Given the description of an element on the screen output the (x, y) to click on. 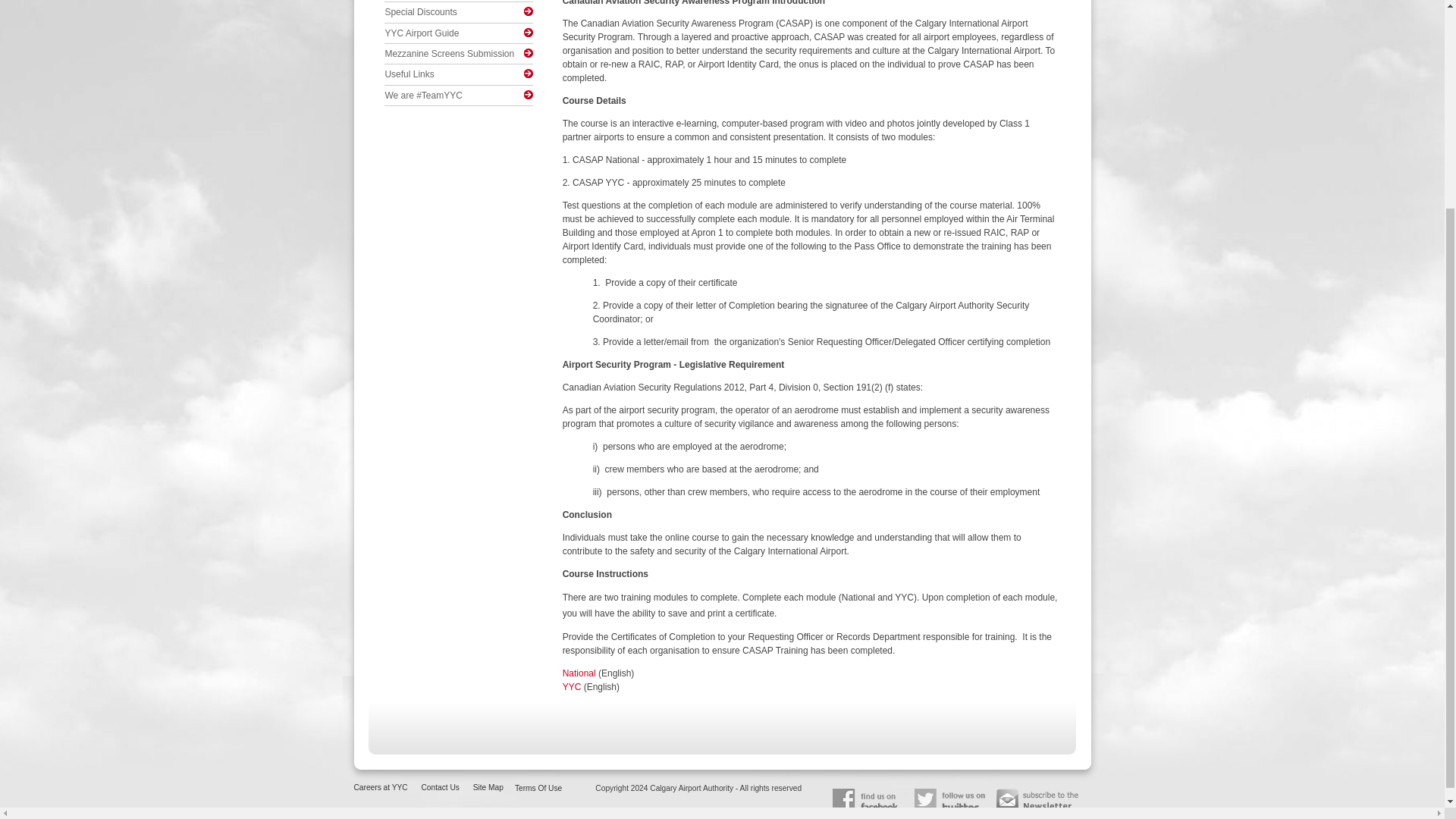
Useful Links (452, 73)
YYC Airport Guide (452, 32)
Careers at YYC (380, 786)
YYC (571, 686)
Special Discounts (452, 11)
Contact Us (441, 786)
National CASAP training module (578, 673)
Terms Of Use (538, 788)
National (578, 673)
Site Map (488, 786)
Mezzanine Screens Submission (452, 53)
YYC Site Specific CASAP training module (571, 686)
